Given the description of an element on the screen output the (x, y) to click on. 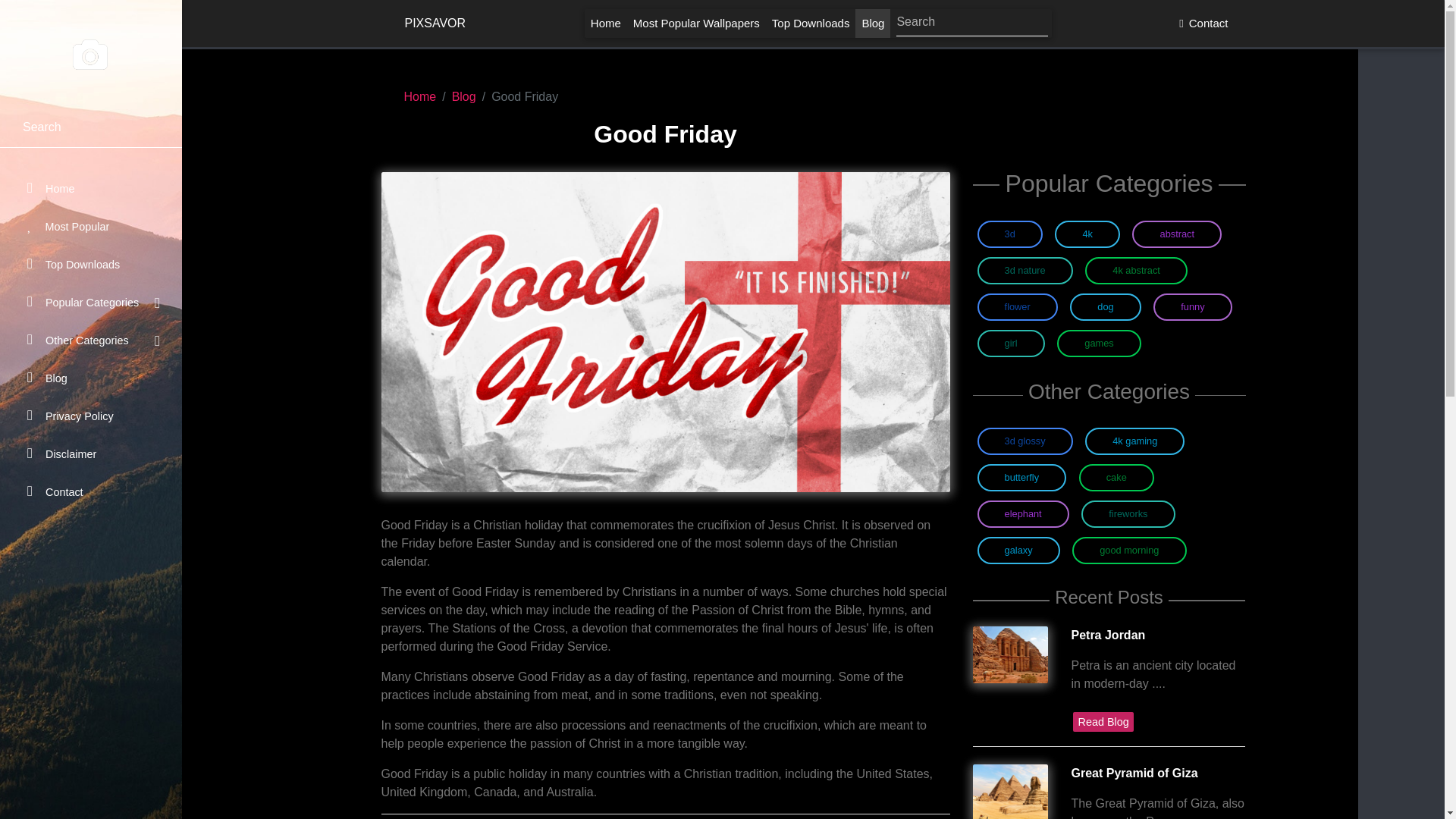
Top Downloads (810, 23)
Contact (1201, 23)
Blog (90, 378)
Blog (463, 96)
Most Downloaded HD Wallpapers (810, 23)
Blog (872, 23)
Home (419, 96)
Disclaimer (90, 454)
Popular HD Wallpapers (696, 23)
Most Popular (90, 226)
Top Downloads (90, 264)
4k (1086, 234)
PIXSAVOR (91, 53)
Home (606, 23)
